Given the description of an element on the screen output the (x, y) to click on. 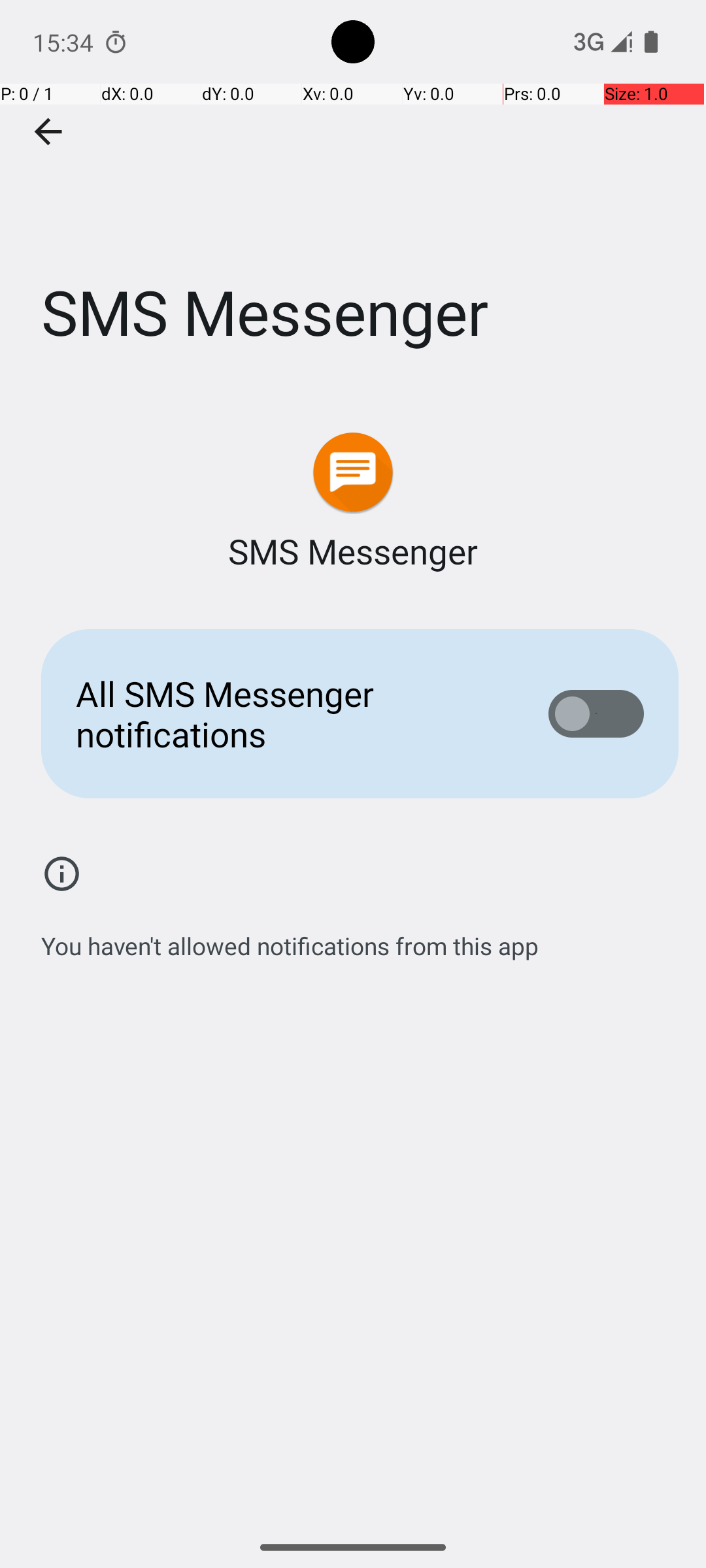
All SMS Messenger notifications Element type: android.widget.TextView (291, 713)
